Given the description of an element on the screen output the (x, y) to click on. 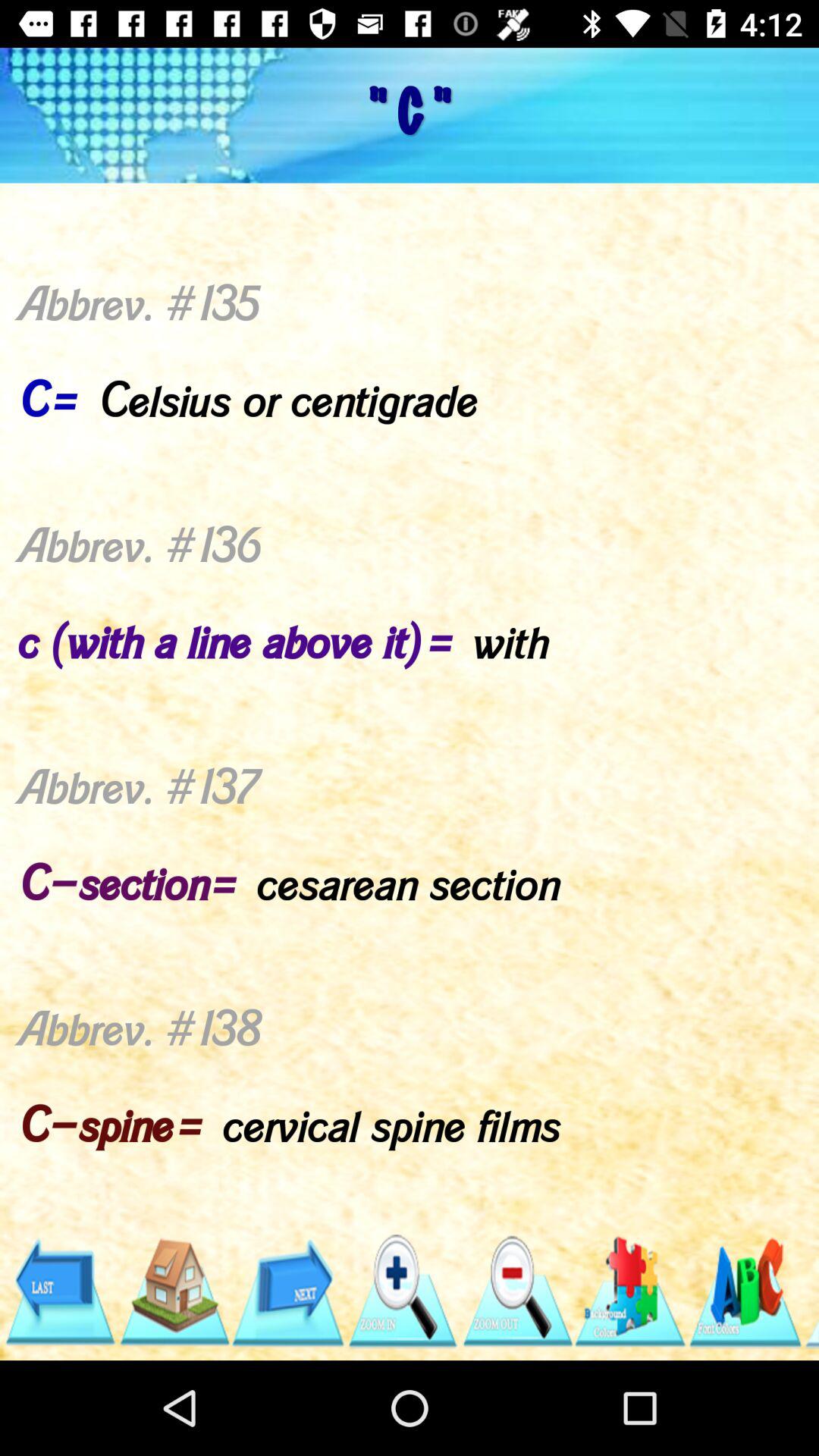
zoom out (516, 1291)
